Given the description of an element on the screen output the (x, y) to click on. 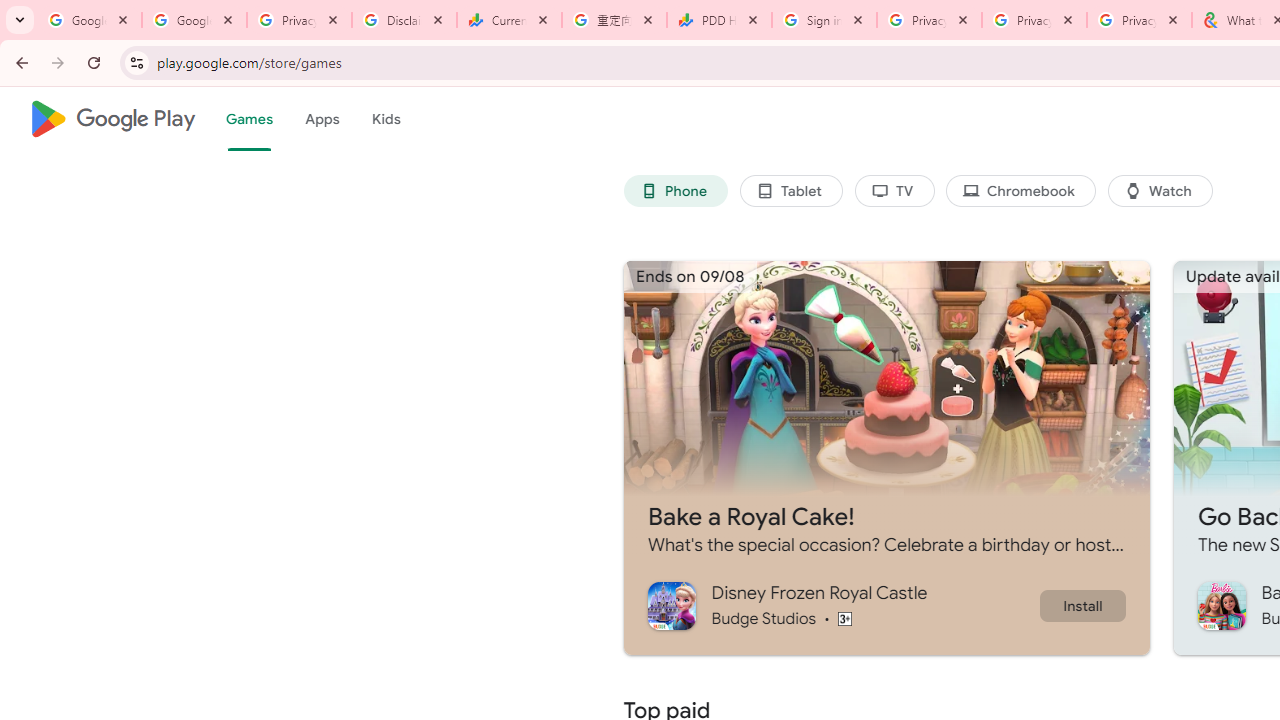
Sign in - Google Accounts (823, 20)
PDD Holdings Inc - ADR (PDD) Price & News - Google Finance (718, 20)
Privacy Checkup (1033, 20)
Apps (321, 119)
Games (248, 119)
Google Workspace Admin Community (89, 20)
Phone (675, 190)
Chromebook (1020, 190)
Watch (1160, 190)
Content rating Rated for 3+ (844, 618)
